Given the description of an element on the screen output the (x, y) to click on. 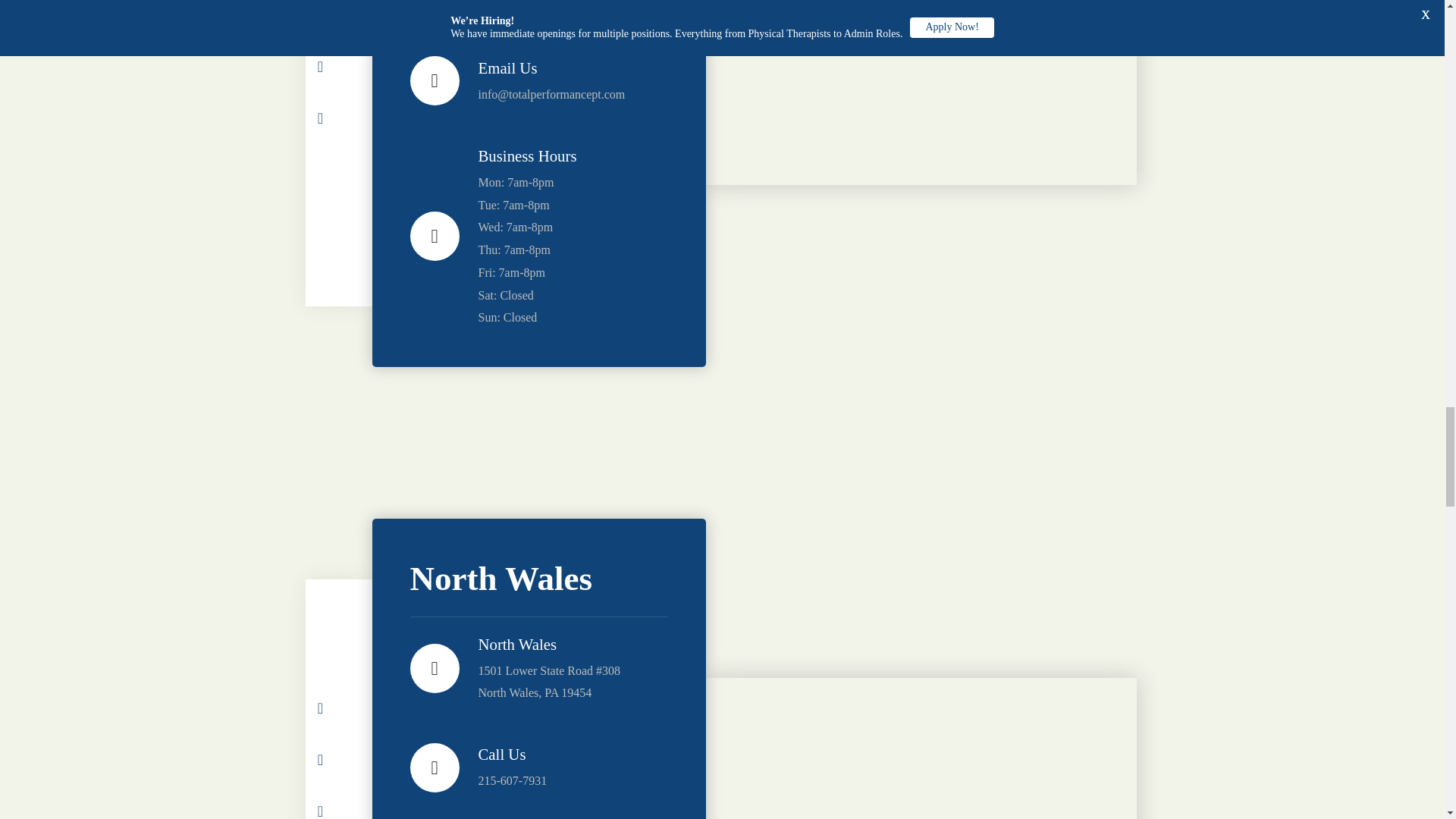
2278 N Penn Rd, Hatfield, PA 19440, United States (919, 92)
